Given the description of an element on the screen output the (x, y) to click on. 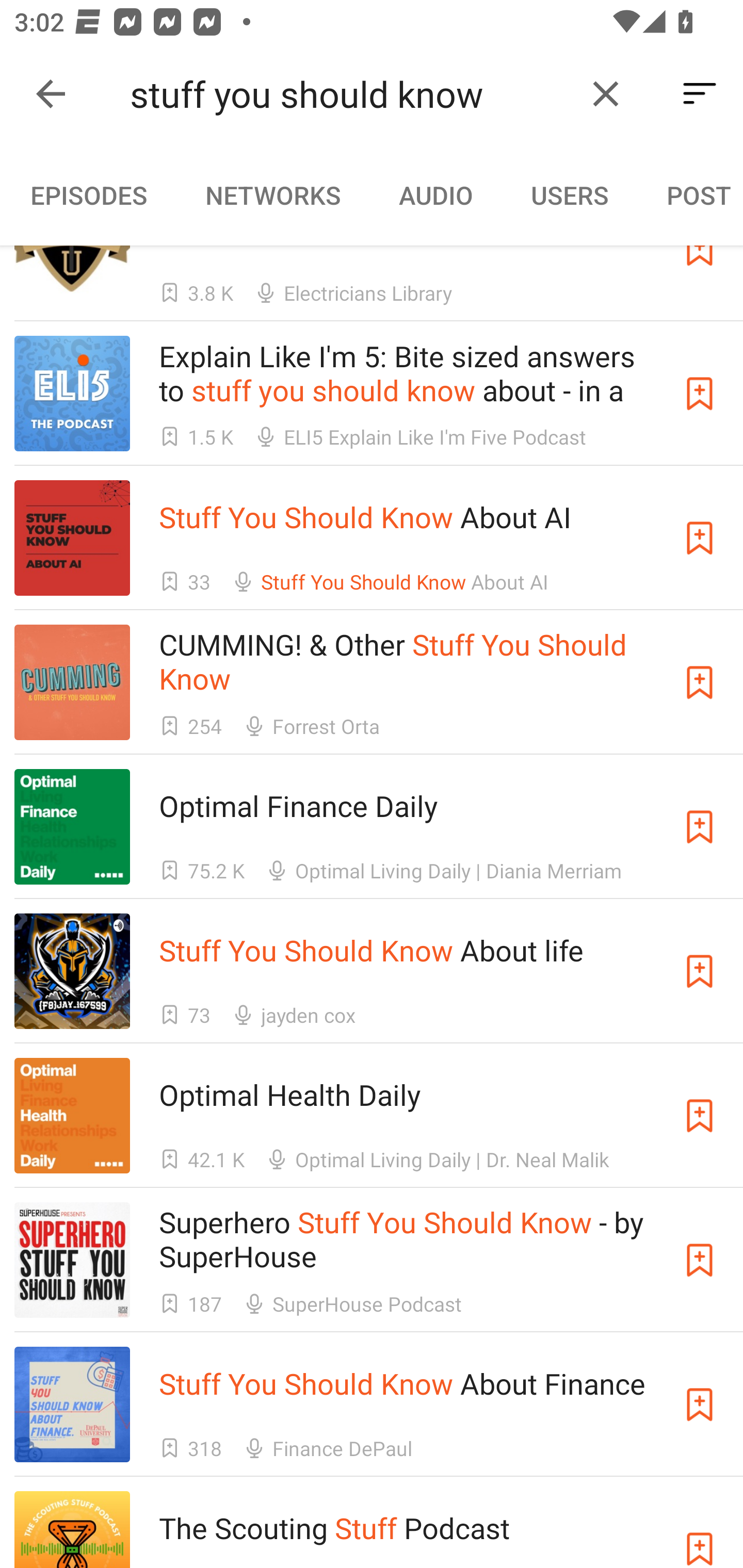
Collapse (50, 93)
Clear query (605, 93)
Sort By (699, 93)
stuff you should know (349, 94)
EPISODES (88, 195)
NETWORKS (272, 195)
AUDIO (435, 195)
USERS (569, 195)
POST (690, 195)
Subscribe (699, 393)
Subscribe (699, 537)
Subscribe (699, 682)
Subscribe (699, 826)
Subscribe (699, 971)
Subscribe (699, 1115)
Subscribe (699, 1259)
Subscribe (699, 1404)
Subscribe (699, 1529)
